Given the description of an element on the screen output the (x, y) to click on. 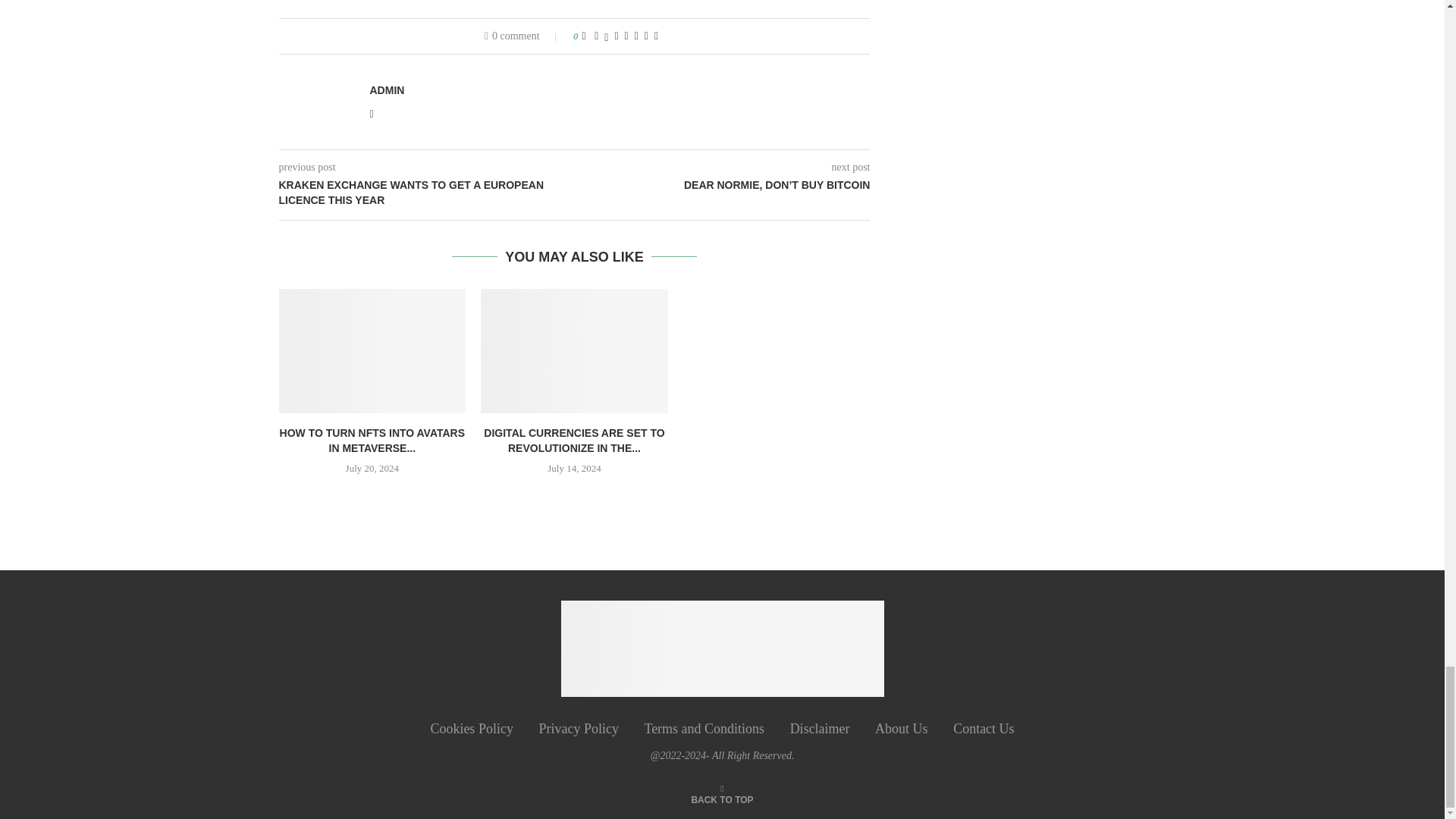
KRAKEN EXCHANGE WANTS TO GET A EUROPEAN LICENCE THIS YEAR (427, 193)
HOW TO TURN NFTS INTO AVATARS IN METAVERSE... (371, 440)
Digital Currencies Are Set To Revolutionize in the Future (574, 351)
Author Admin (386, 90)
ADMIN (386, 90)
How to turn NFTs into Avatars in Metaverse Digital World (372, 351)
DIGITAL CURRENCIES ARE SET TO REVOLUTIONIZE IN THE... (573, 440)
